Given the description of an element on the screen output the (x, y) to click on. 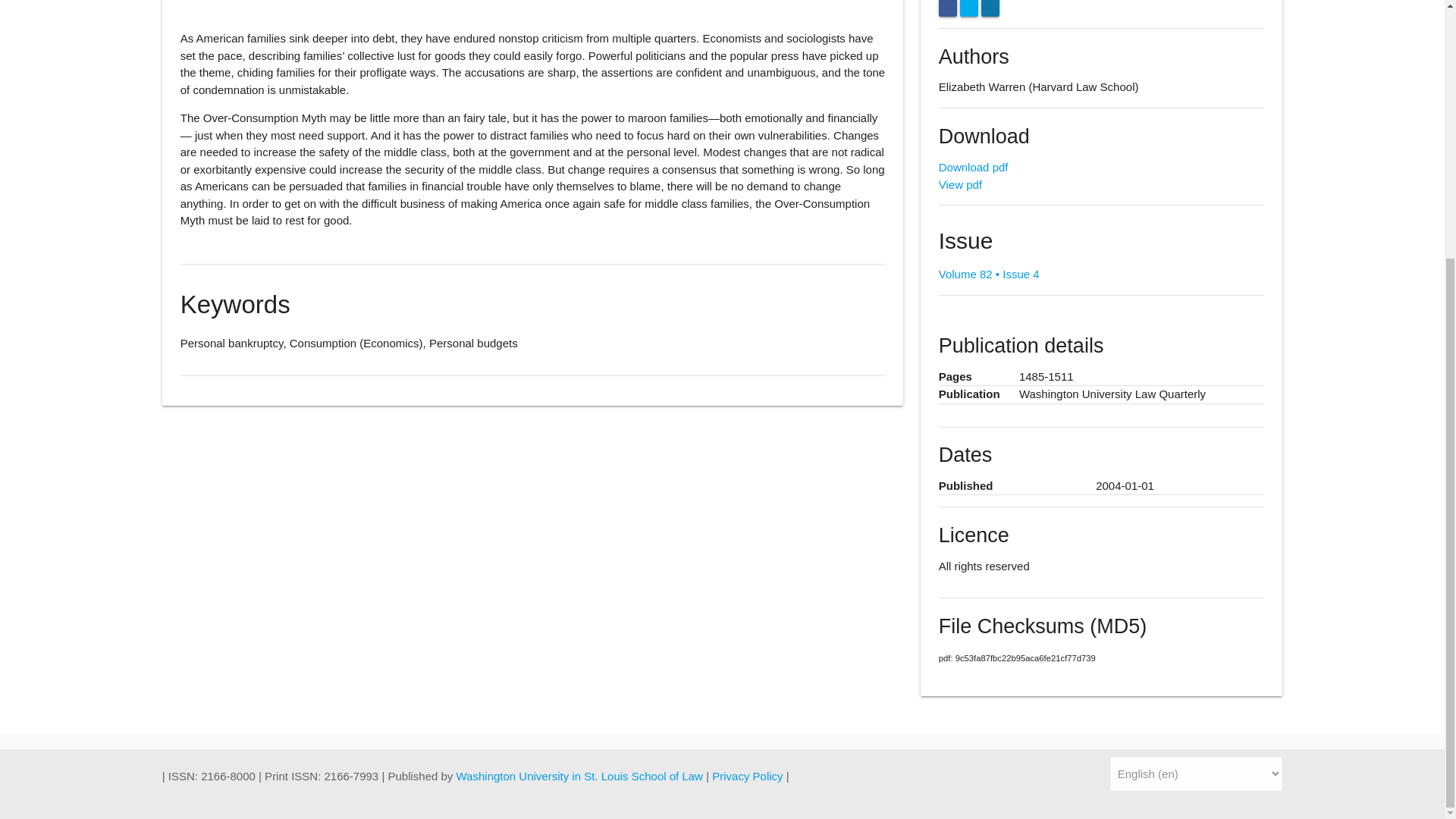
Download pdf (974, 166)
View pdf (960, 184)
Washington University in St. Louis School of Law (581, 775)
Privacy Policy (748, 775)
